Given the description of an element on the screen output the (x, y) to click on. 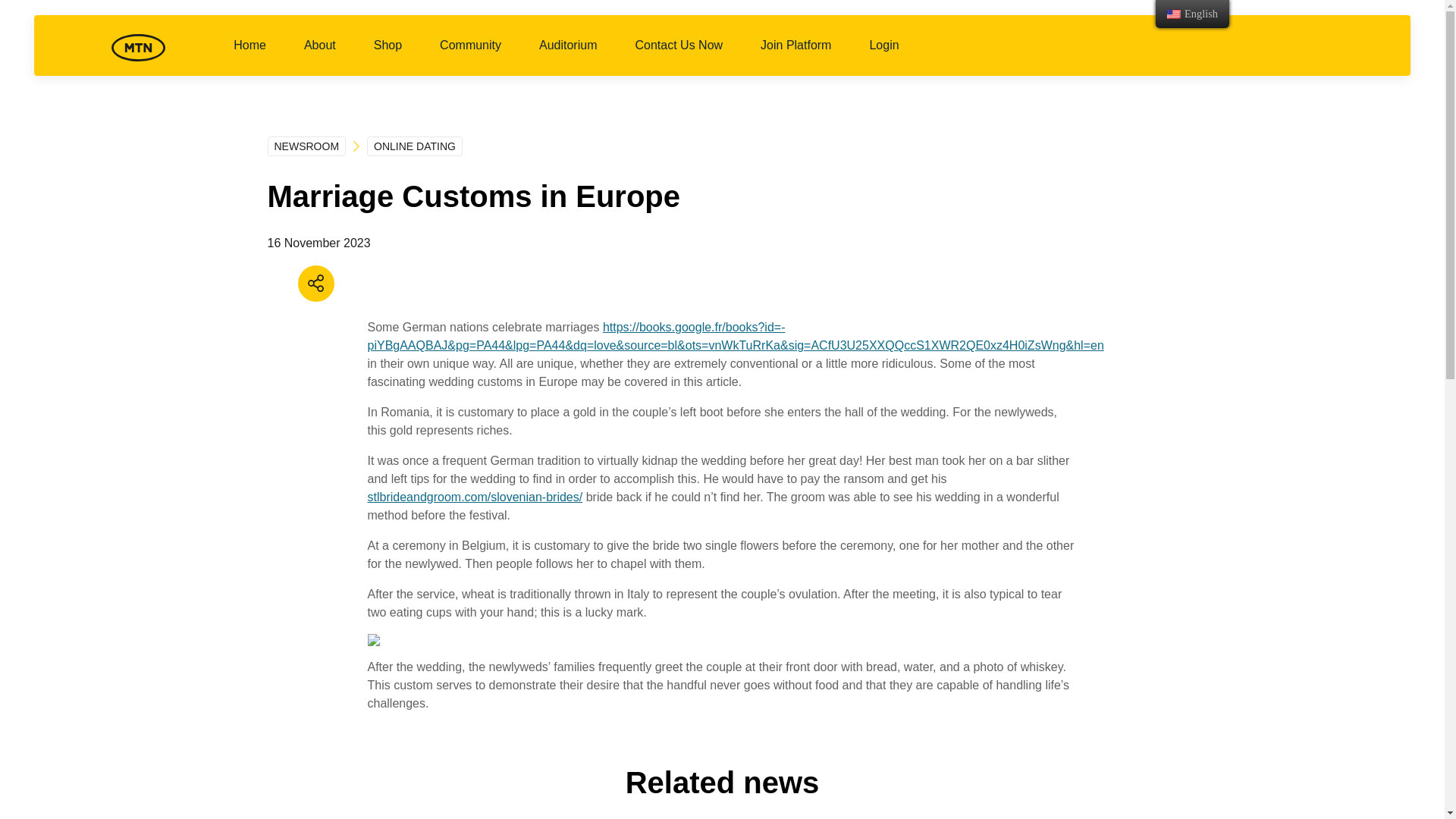
Login (883, 56)
About (320, 56)
English (1192, 13)
Home (249, 56)
Auditorium (567, 56)
English (1173, 13)
Shop (387, 56)
Contact Us Now (678, 56)
Join Platform (795, 56)
ONLINE DATING (414, 146)
